Given the description of an element on the screen output the (x, y) to click on. 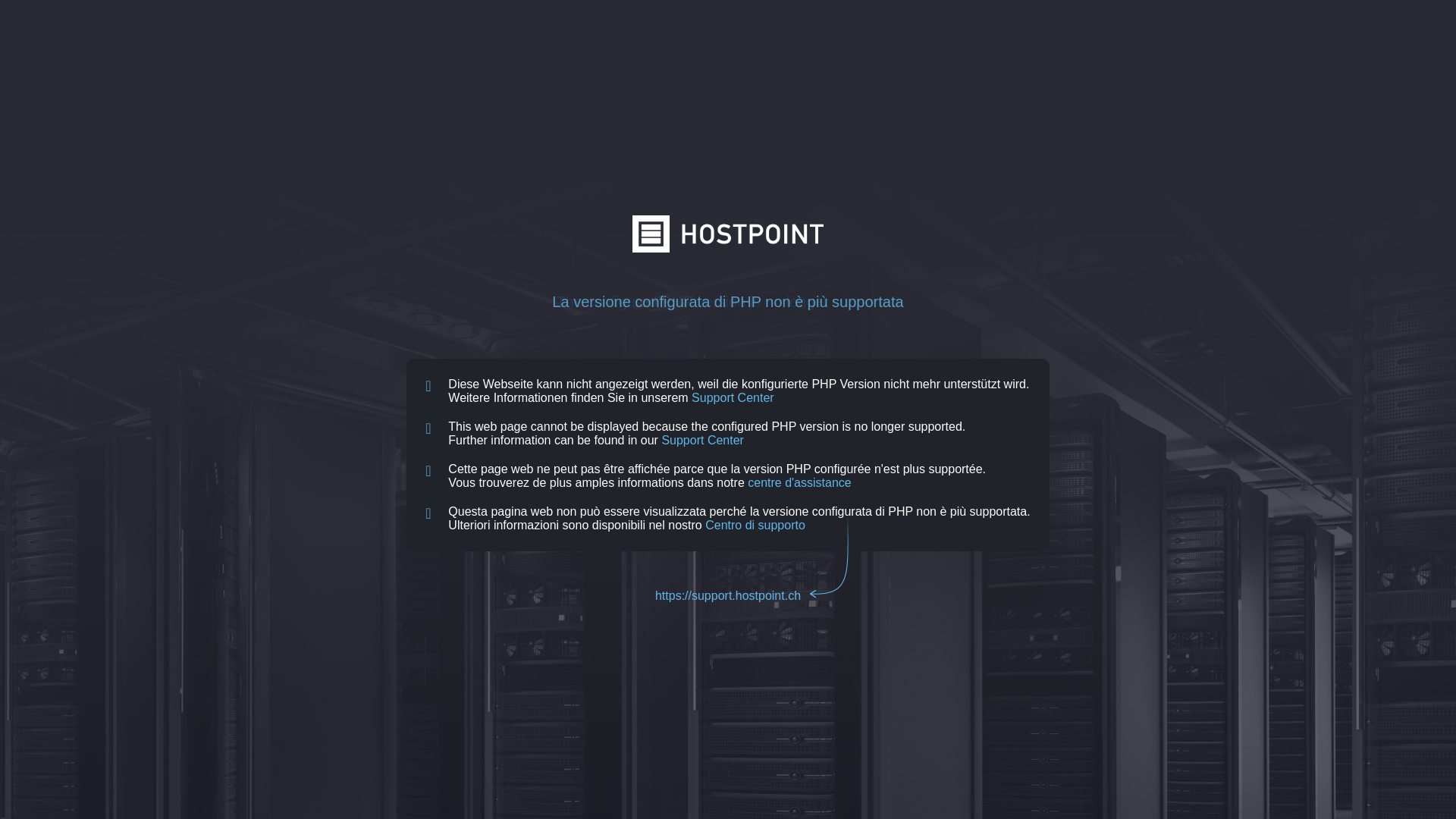
https://support.hostpoint.ch Element type: text (727, 595)
centre d'assistance Element type: text (798, 482)
Support Center Element type: text (702, 439)
Support Center Element type: text (732, 397)
Centro di supporto Element type: text (755, 524)
